Given the description of an element on the screen output the (x, y) to click on. 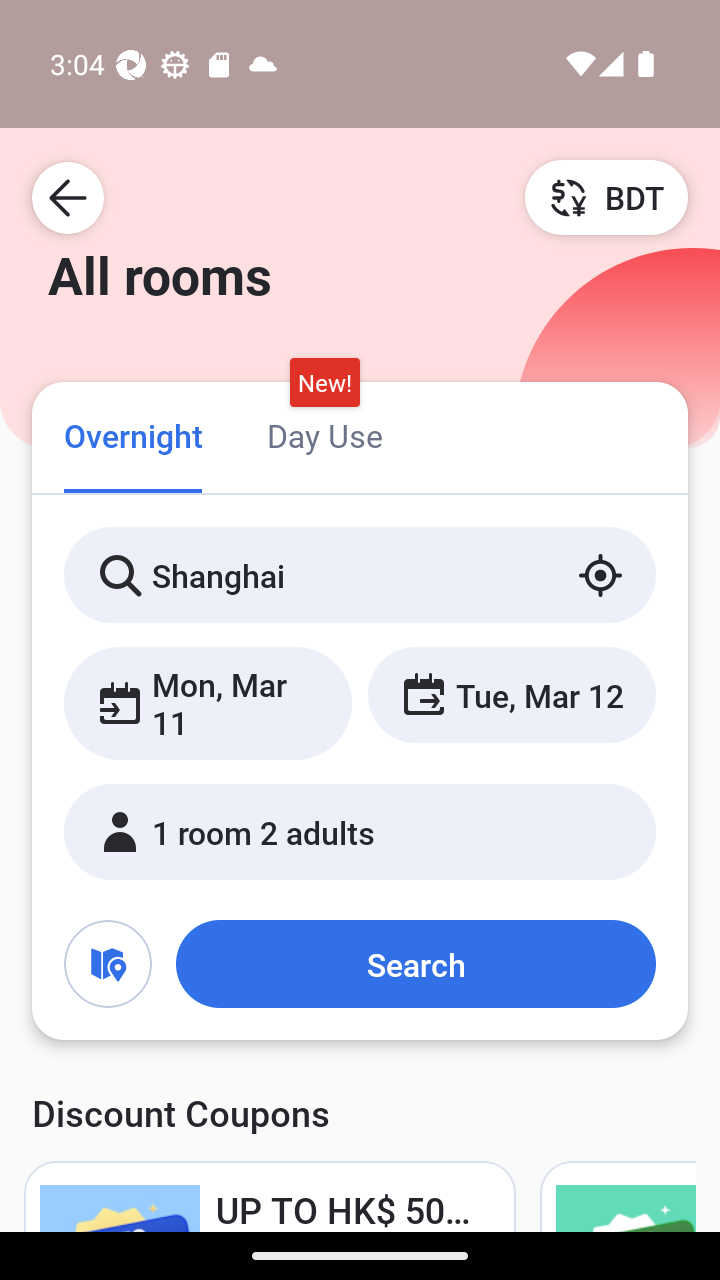
BDT (606, 197)
New! (324, 383)
Day Use (324, 434)
Shanghai (359, 575)
Mon, Mar 11 (208, 703)
Tue, Mar 12 (511, 694)
1 room 2 adults (359, 831)
Search (415, 964)
